Given the description of an element on the screen output the (x, y) to click on. 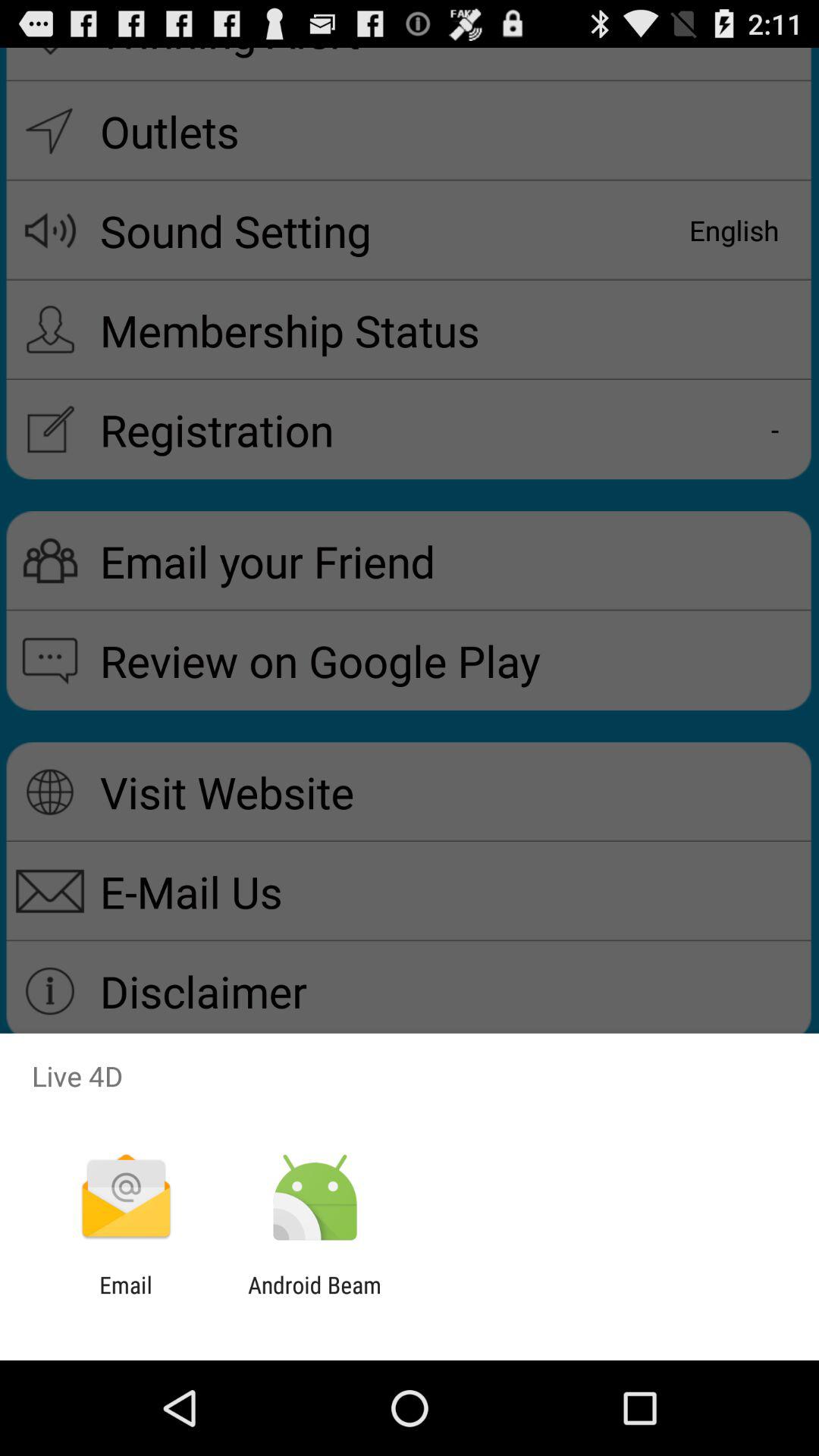
jump until email app (125, 1298)
